Given the description of an element on the screen output the (x, y) to click on. 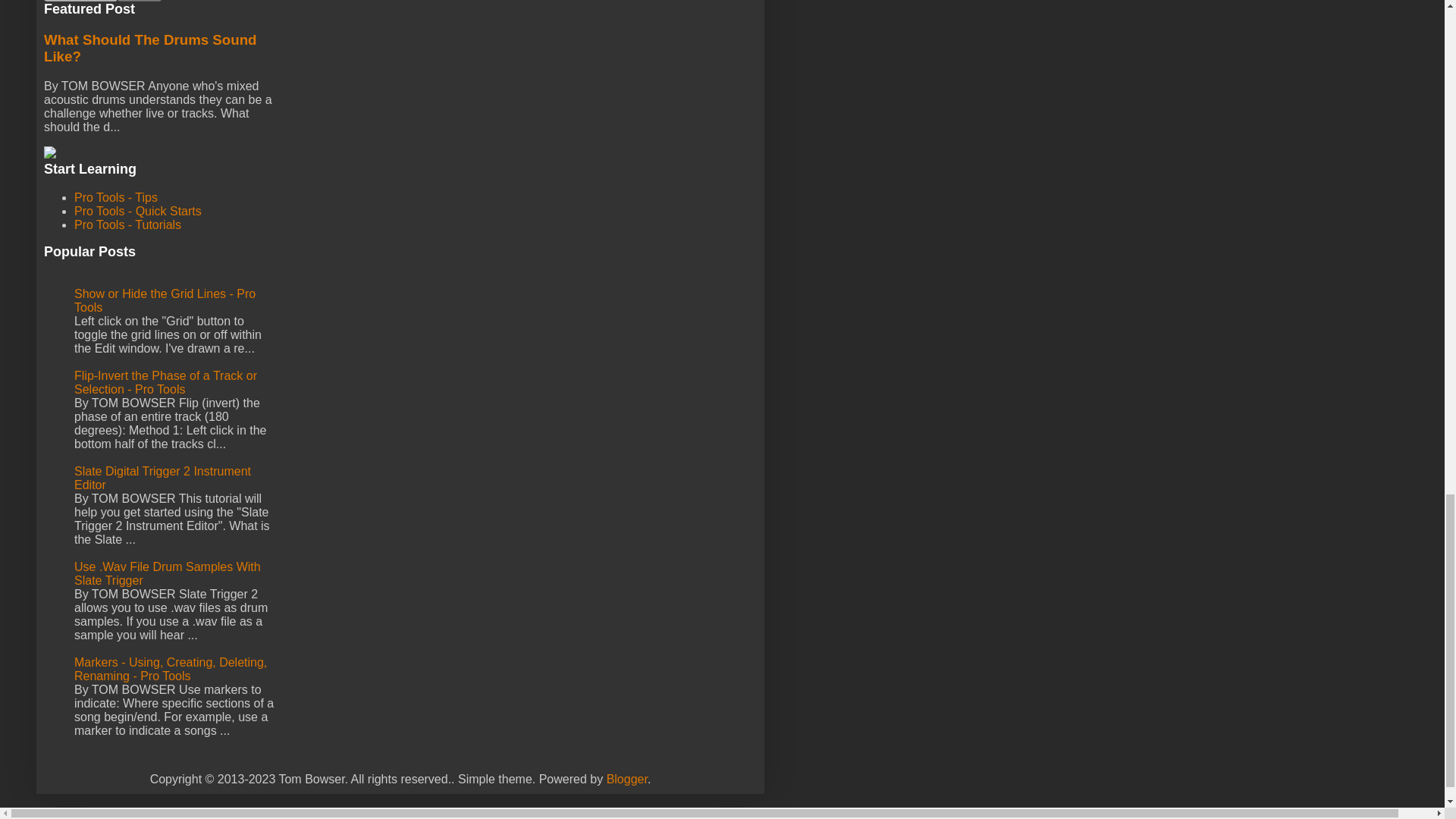
Markers - Using, Creating, Deleting, Renaming - Pro Tools (170, 669)
search (80, 0)
Search (139, 0)
Pro Tools - Tips (115, 196)
Use .Wav File Drum Samples With Slate Trigger (167, 573)
search (139, 0)
Pro Tools - Tutorials (127, 224)
Blogger (627, 779)
Flip-Invert the Phase of a Track or Selection - Pro Tools (165, 382)
Pro Tools - Quick Starts (138, 210)
Search (139, 0)
Slate Digital Trigger 2 Instrument Editor (162, 478)
What Should The Drums Sound Like? (150, 47)
Search (139, 0)
Show or Hide the Grid Lines - Pro Tools (165, 300)
